Given the description of an element on the screen output the (x, y) to click on. 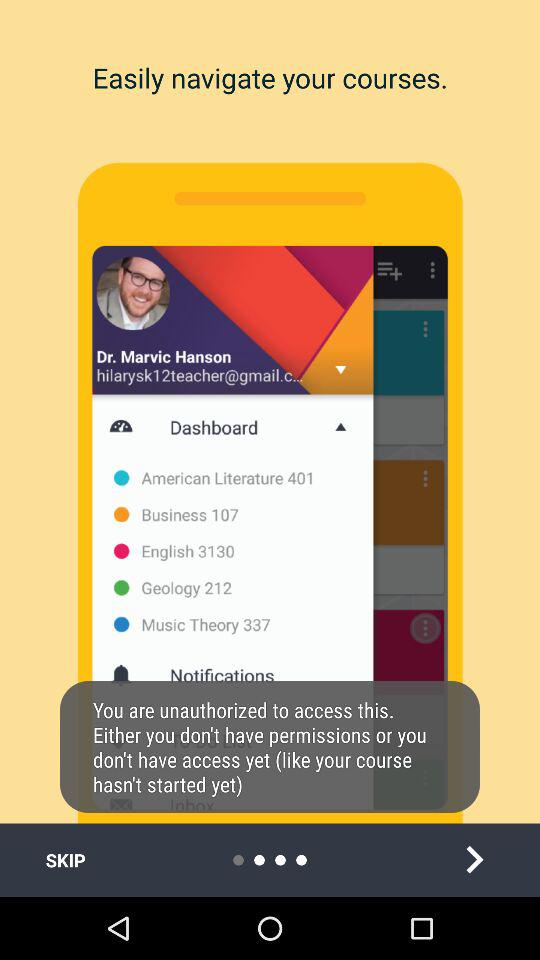
go to next page (474, 860)
